Given the description of an element on the screen output the (x, y) to click on. 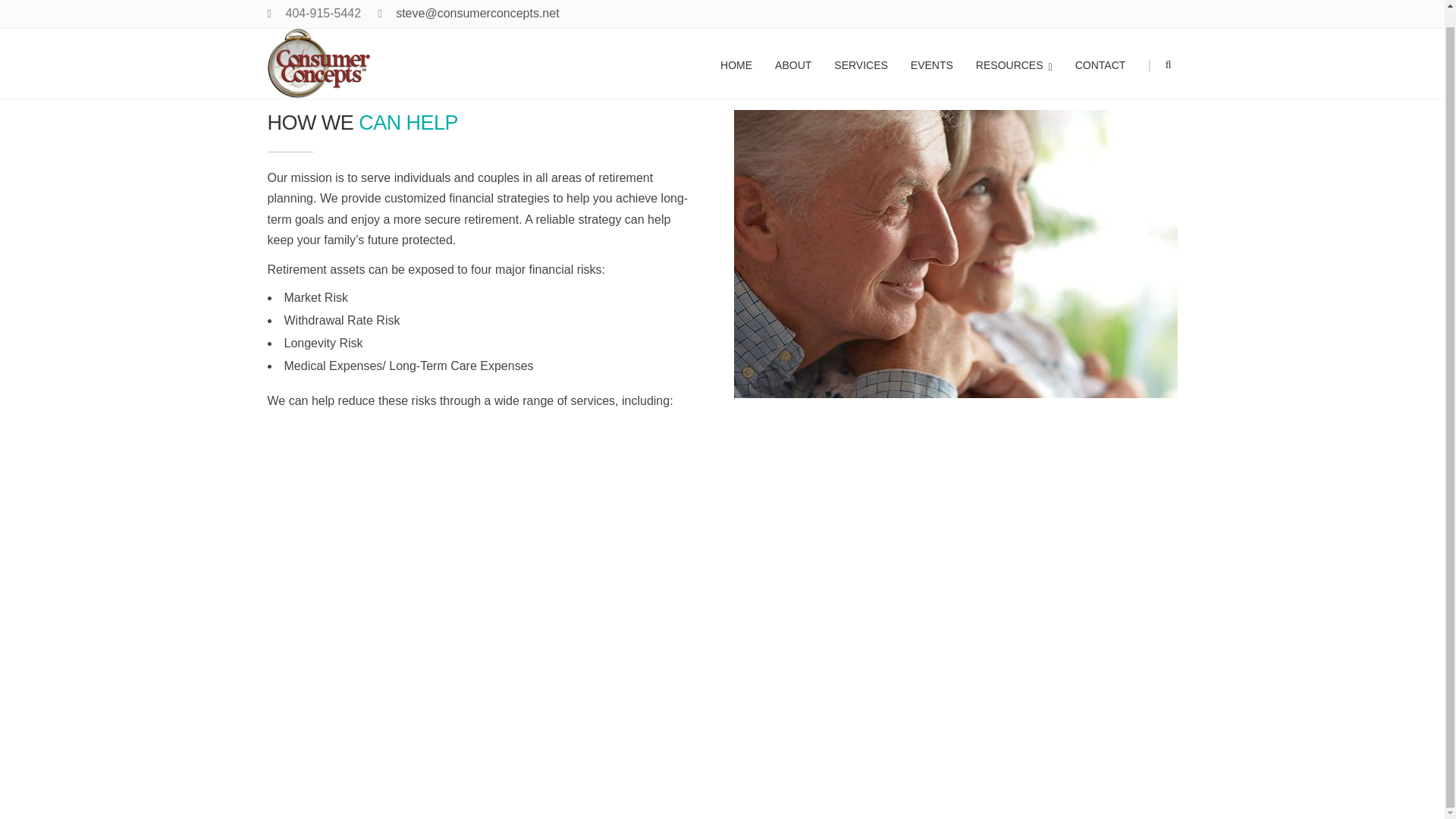
RESOURCES (1013, 46)
EVENTS (931, 46)
CONTACT (1100, 46)
Send (606, 606)
Send (606, 606)
final (955, 253)
Naperville Website Design (565, 776)
SERVICES (860, 46)
